Given the description of an element on the screen output the (x, y) to click on. 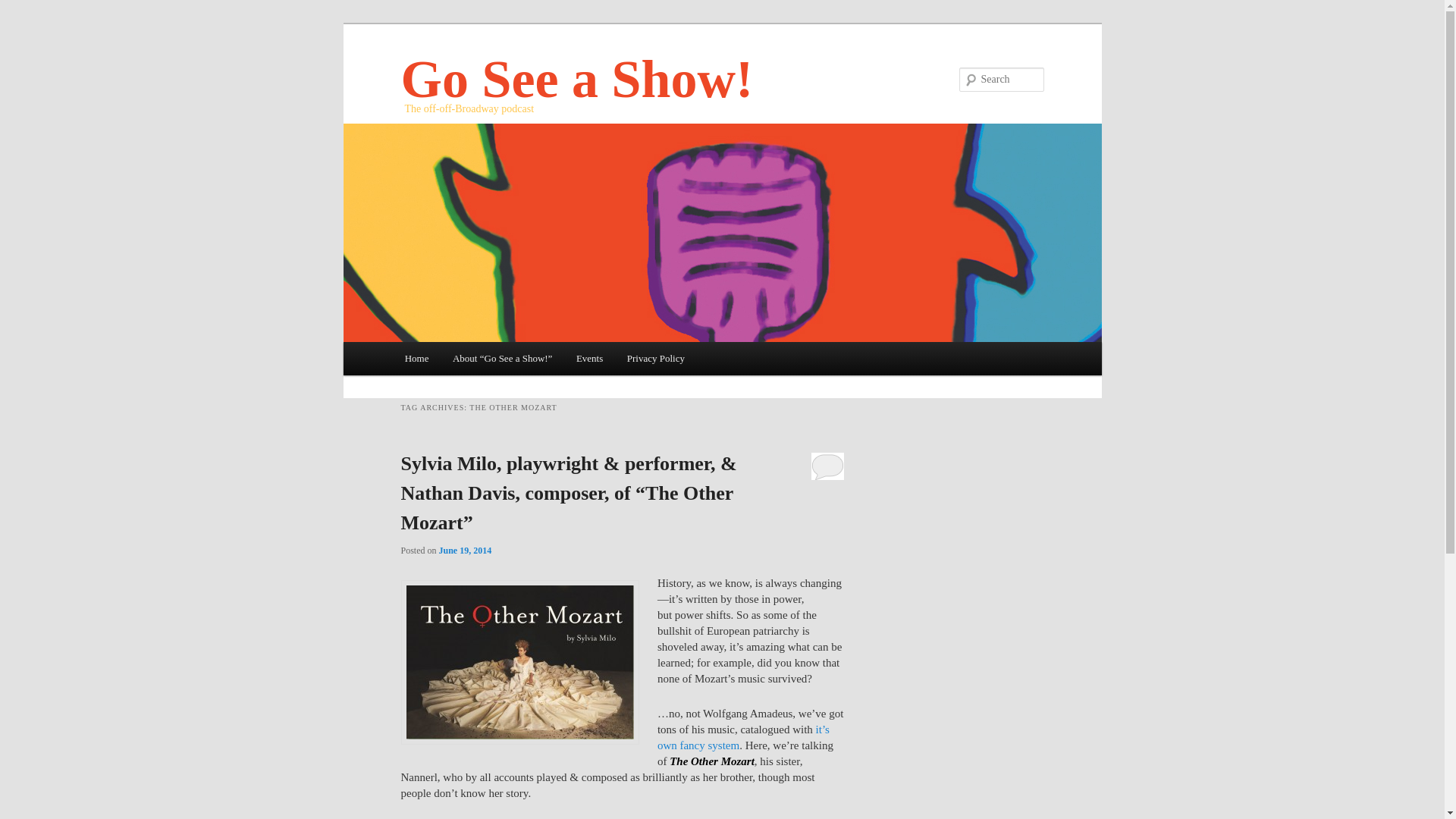
Events (589, 358)
Privacy Policy (655, 358)
Go See a Show! (576, 78)
June 19, 2014 (465, 550)
Search (21, 8)
3:52 pm (465, 550)
Home (417, 358)
